Given the description of an element on the screen output the (x, y) to click on. 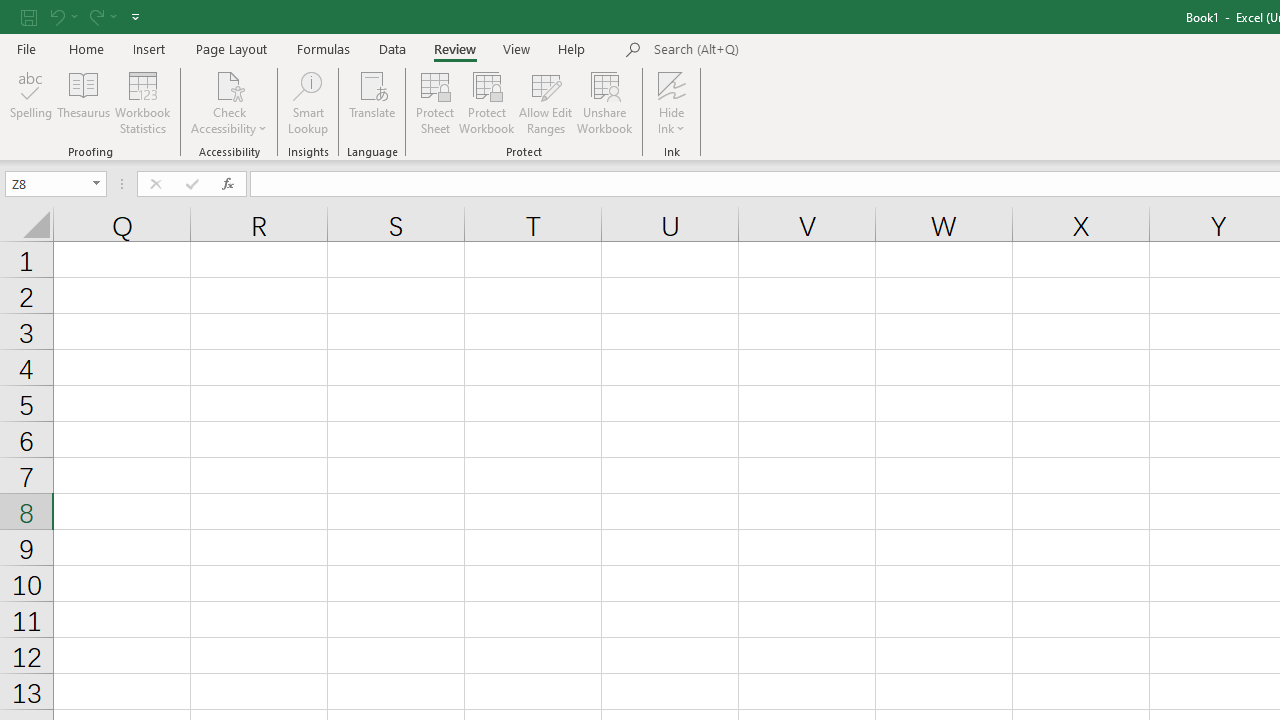
Customize Quick Access Toolbar (135, 15)
Undo (56, 15)
Allow Edit Ranges (545, 102)
Spelling... (31, 102)
More Options (671, 121)
Undo (62, 15)
Name Box (56, 183)
